Given the description of an element on the screen output the (x, y) to click on. 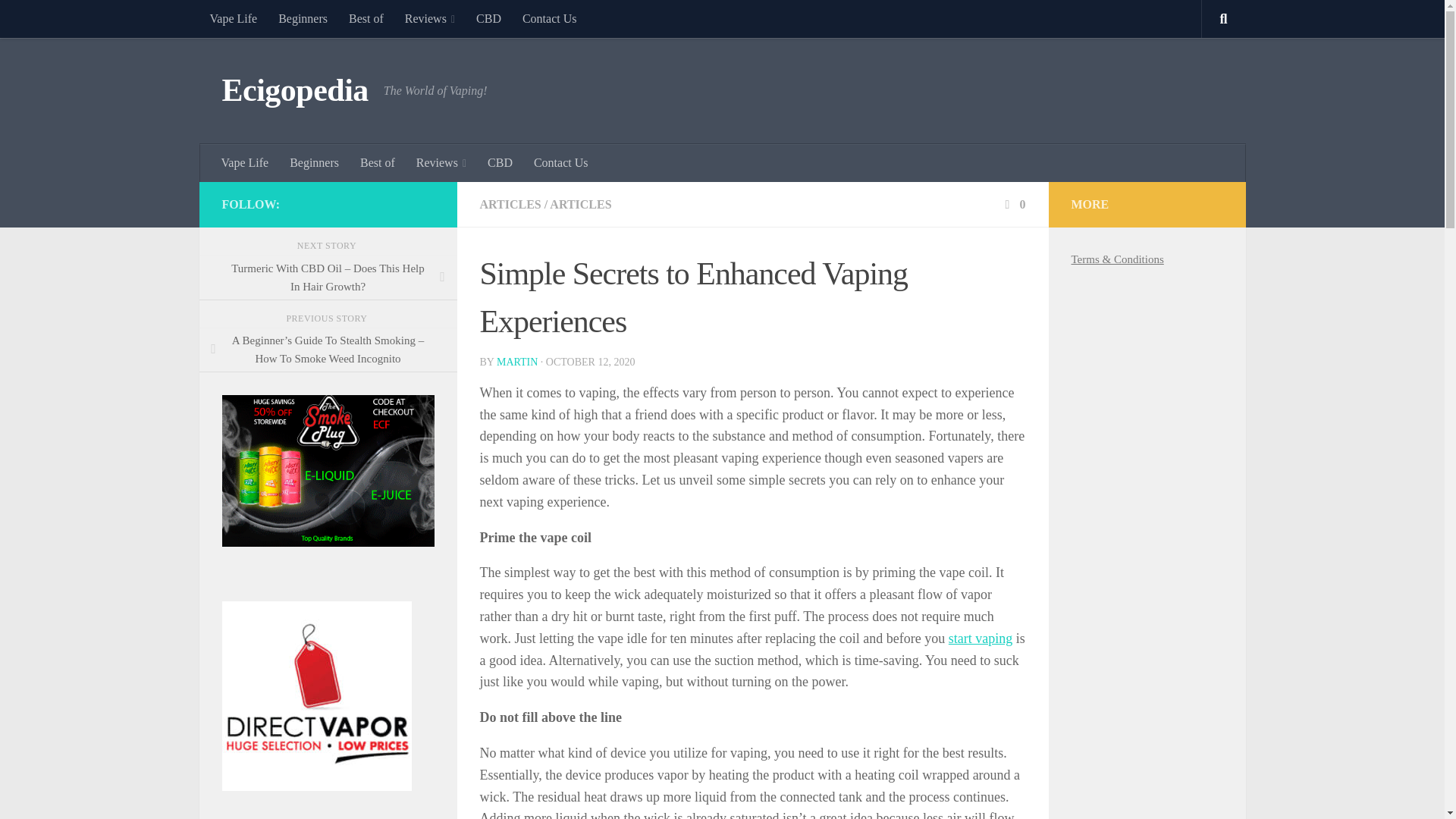
Contact Us (560, 162)
0 (1013, 204)
CBD (488, 18)
Posts by Martin (516, 361)
Reviews (429, 18)
ARTICLES (580, 204)
Best of (377, 162)
Contact Us (550, 18)
Beginners (314, 162)
ARTICLES (509, 204)
